Given the description of an element on the screen output the (x, y) to click on. 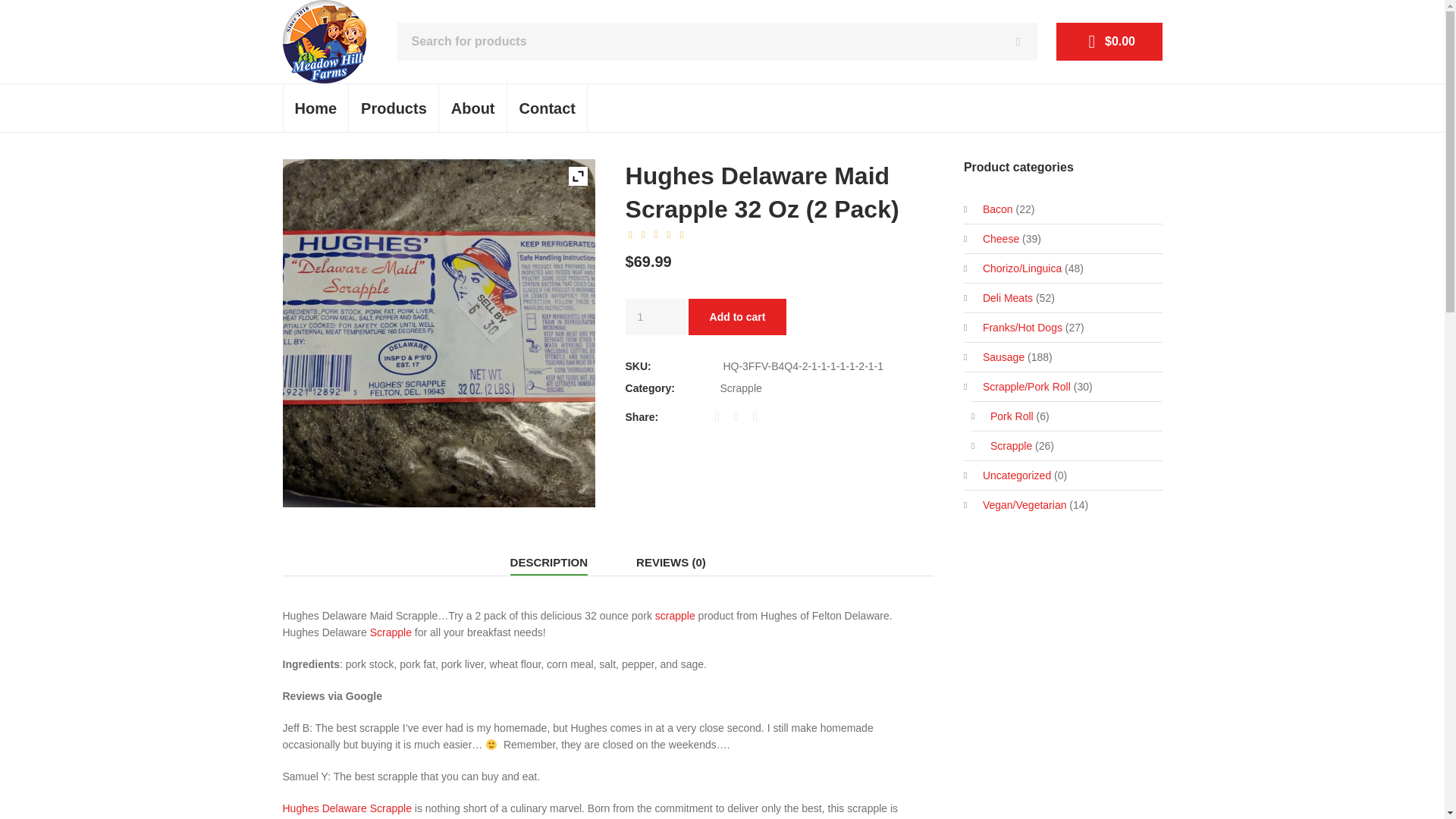
Hughes Delaware Scrapple (346, 808)
Contact (547, 107)
Rated 0 out of 5 (656, 234)
DESCRIPTION (549, 562)
Home (316, 107)
Products (393, 107)
Scrapple (740, 387)
Facebook (721, 415)
Pinterest (759, 415)
hughes2 (438, 332)
1 (655, 316)
Scrapple (390, 632)
About (472, 107)
Add to cart (737, 316)
Twitter (740, 415)
